Given the description of an element on the screen output the (x, y) to click on. 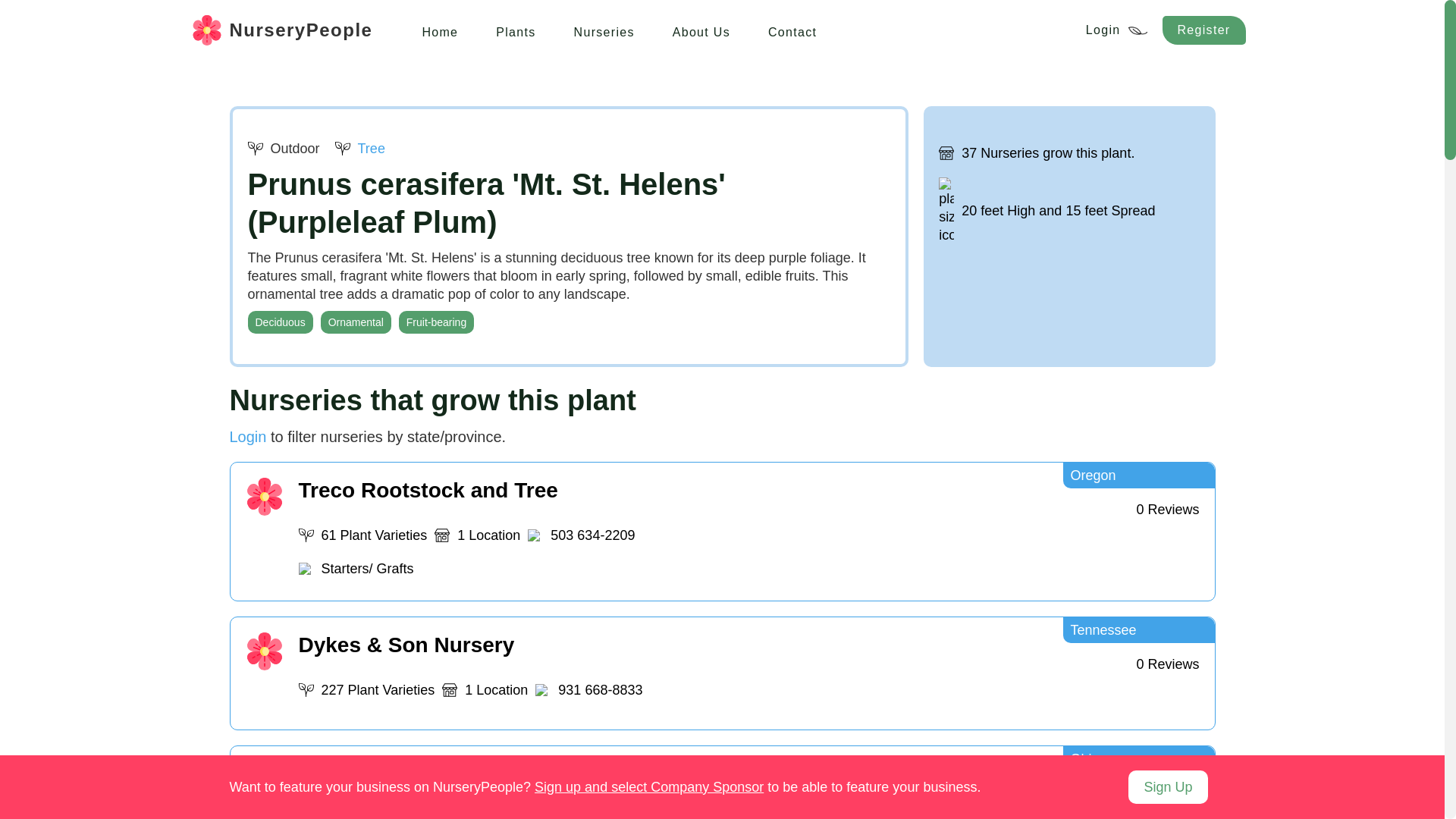
Deciduous (280, 322)
Tree (359, 148)
Plants (515, 29)
Ohio (1138, 759)
About Us (701, 29)
Register (1203, 30)
Home (440, 29)
Nurseries (603, 29)
Contact (792, 29)
Ornamental (355, 322)
Tennessee (1138, 629)
Oregon (1138, 475)
NurseryPeople (281, 30)
Login (247, 436)
